Given the description of an element on the screen output the (x, y) to click on. 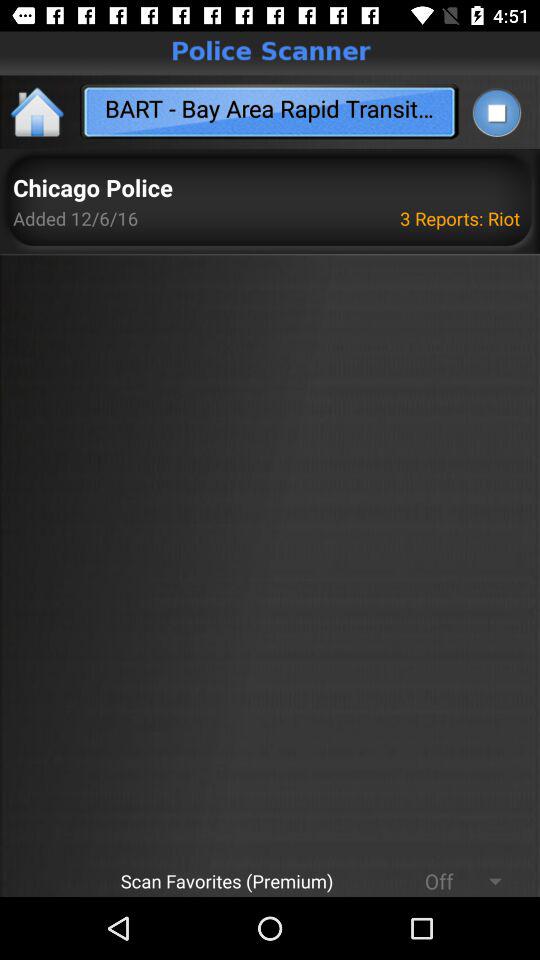
launch the icon next to the chicago police item (463, 218)
